Given the description of an element on the screen output the (x, y) to click on. 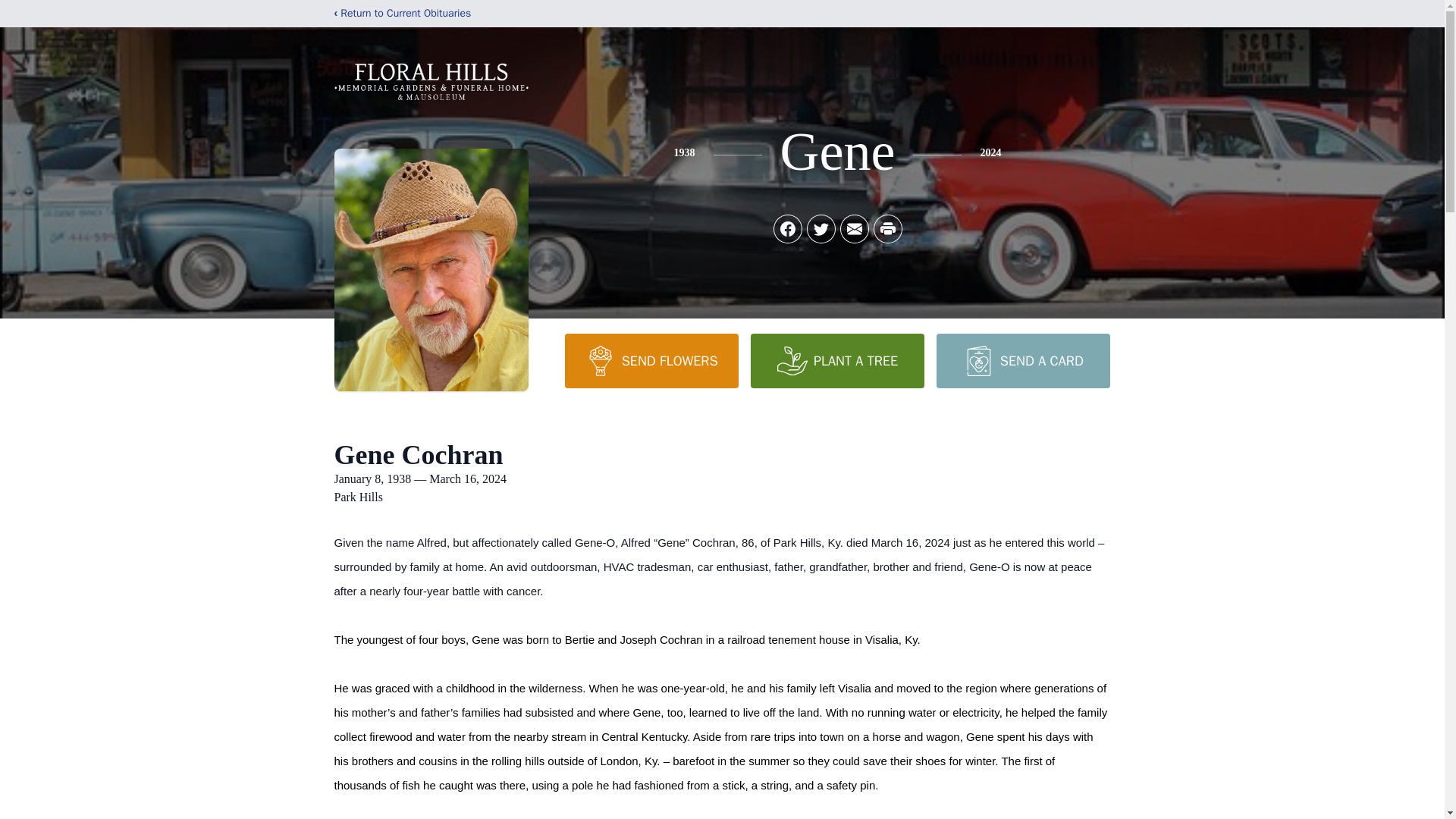
SEND A CARD (1022, 360)
PLANT A TREE (837, 360)
SEND FLOWERS (651, 360)
